Given the description of an element on the screen output the (x, y) to click on. 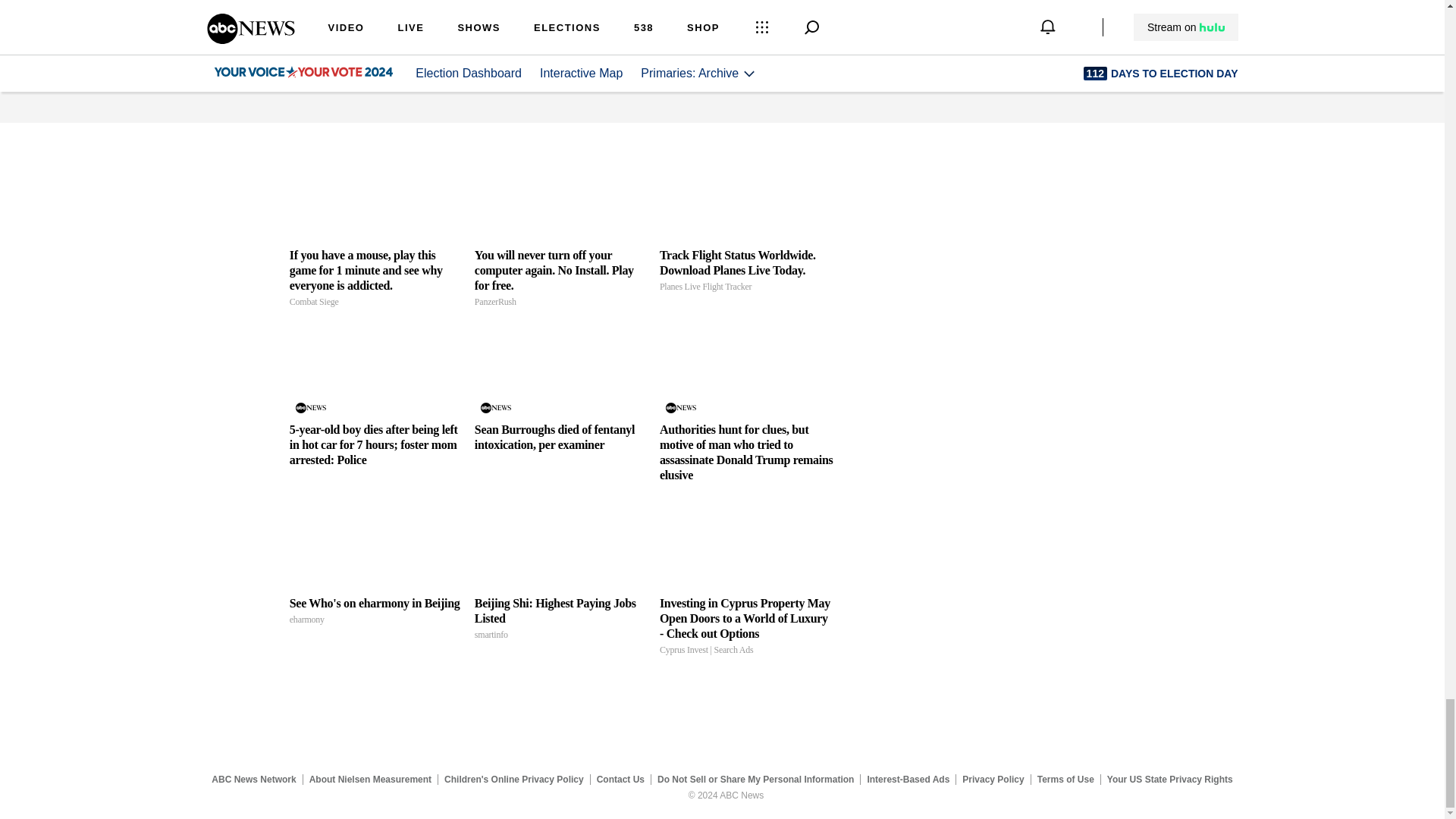
Beijing Shi: Highest Paying Jobs Listed (560, 619)
Sean Burroughs died of fentanyl intoxication, per examiner (560, 369)
Beijing Shi: Highest Paying Jobs Listed (560, 543)
See Who's on eharmony in Beijing (376, 612)
See Who's on eharmony in Beijing (376, 543)
Sean Burroughs died of fentanyl intoxication, per examiner (560, 437)
